Given the description of an element on the screen output the (x, y) to click on. 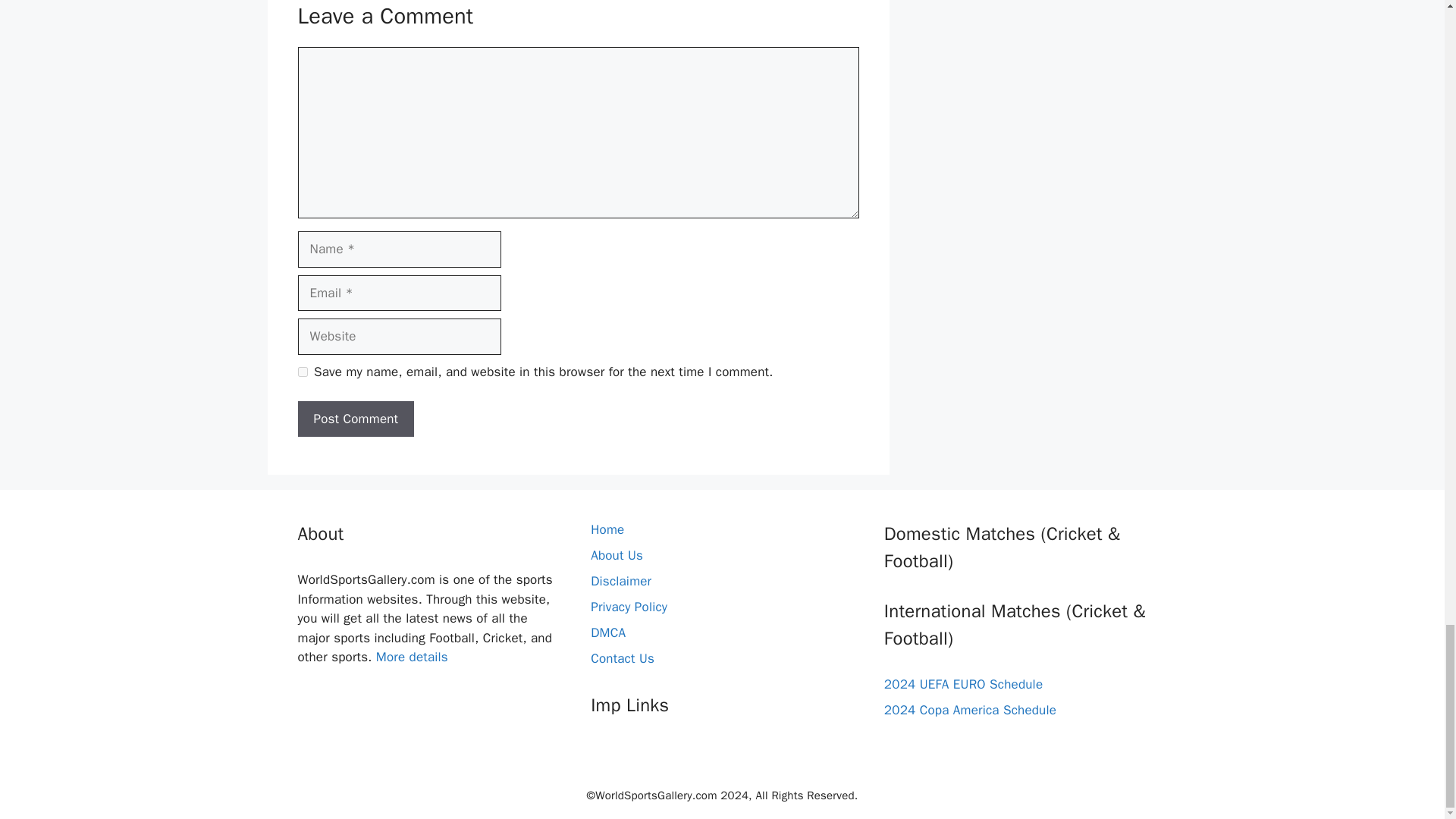
yes (302, 371)
Post Comment (355, 419)
Post Comment (355, 419)
